Given the description of an element on the screen output the (x, y) to click on. 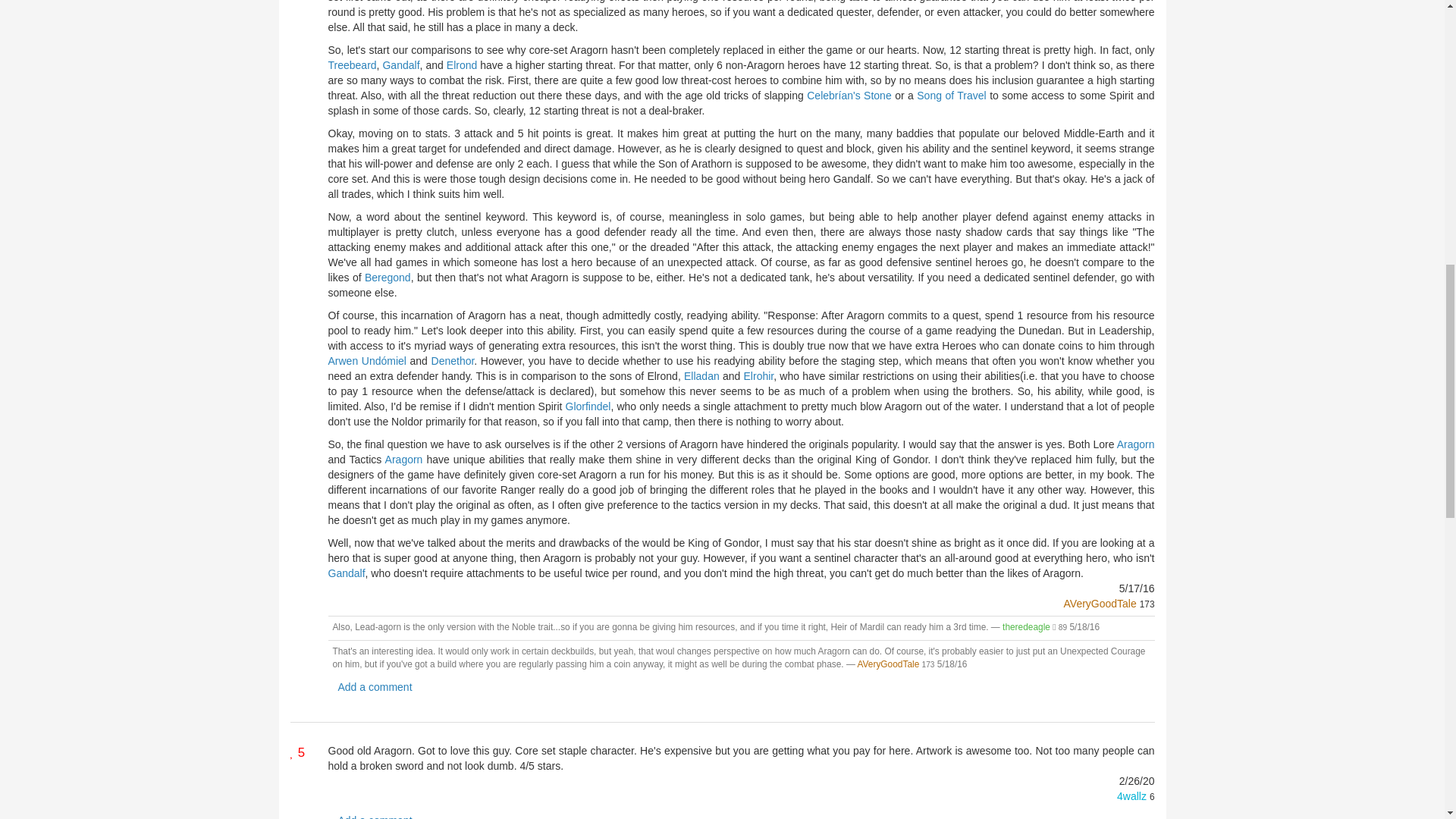
Aragorn (404, 459)
May 17th, 2016 (1136, 588)
Beregond (387, 277)
Elladan (701, 376)
May 18th, 2016 (952, 664)
User Reputation (1062, 627)
Denethor (452, 360)
AVeryGoodTale (1100, 603)
Elrond (461, 64)
Song of Travel (951, 95)
